Given the description of an element on the screen output the (x, y) to click on. 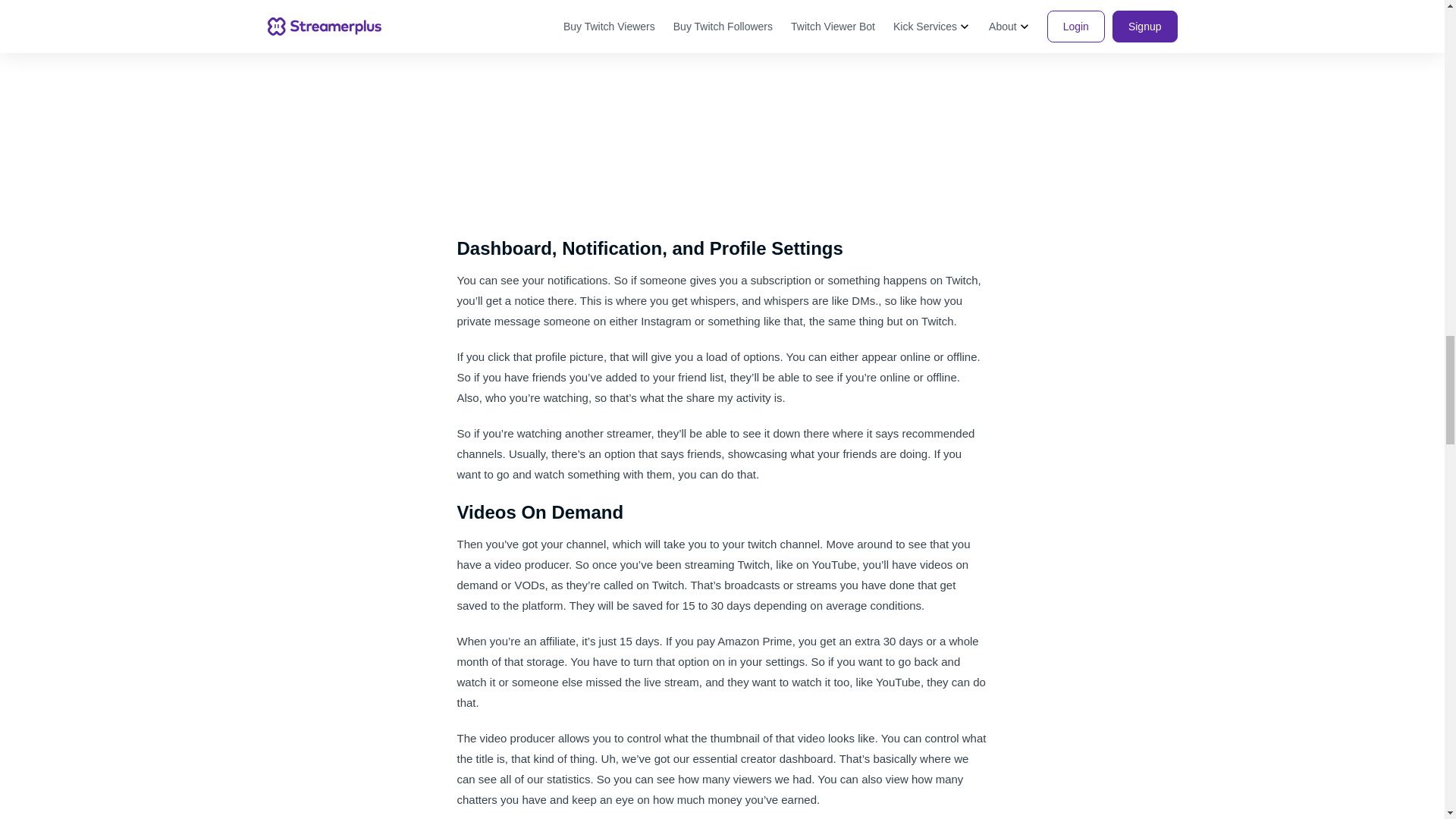
Fiverr (524, 25)
